Given the description of an element on the screen output the (x, y) to click on. 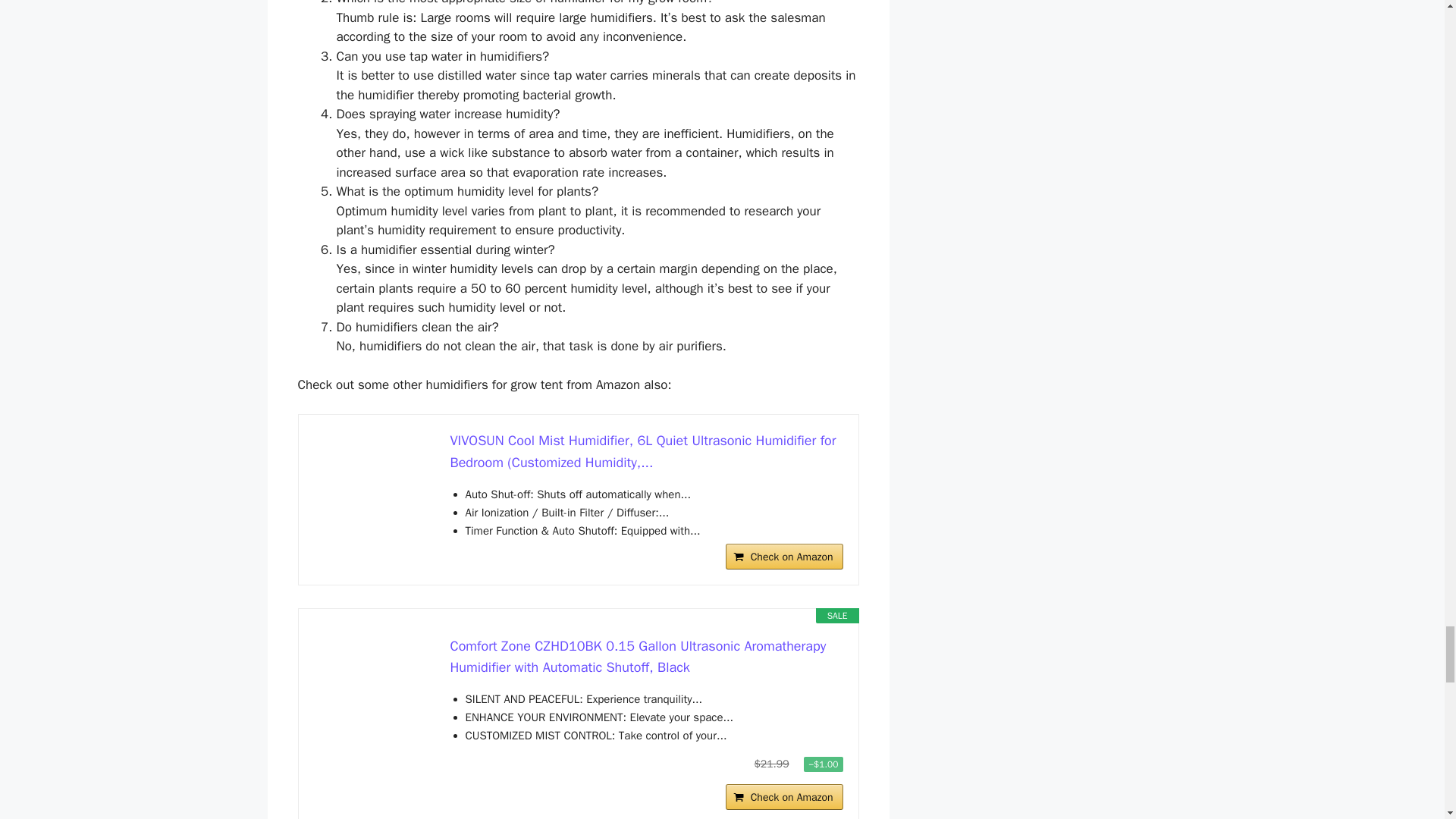
Check on Amazon (784, 556)
